Given the description of an element on the screen output the (x, y) to click on. 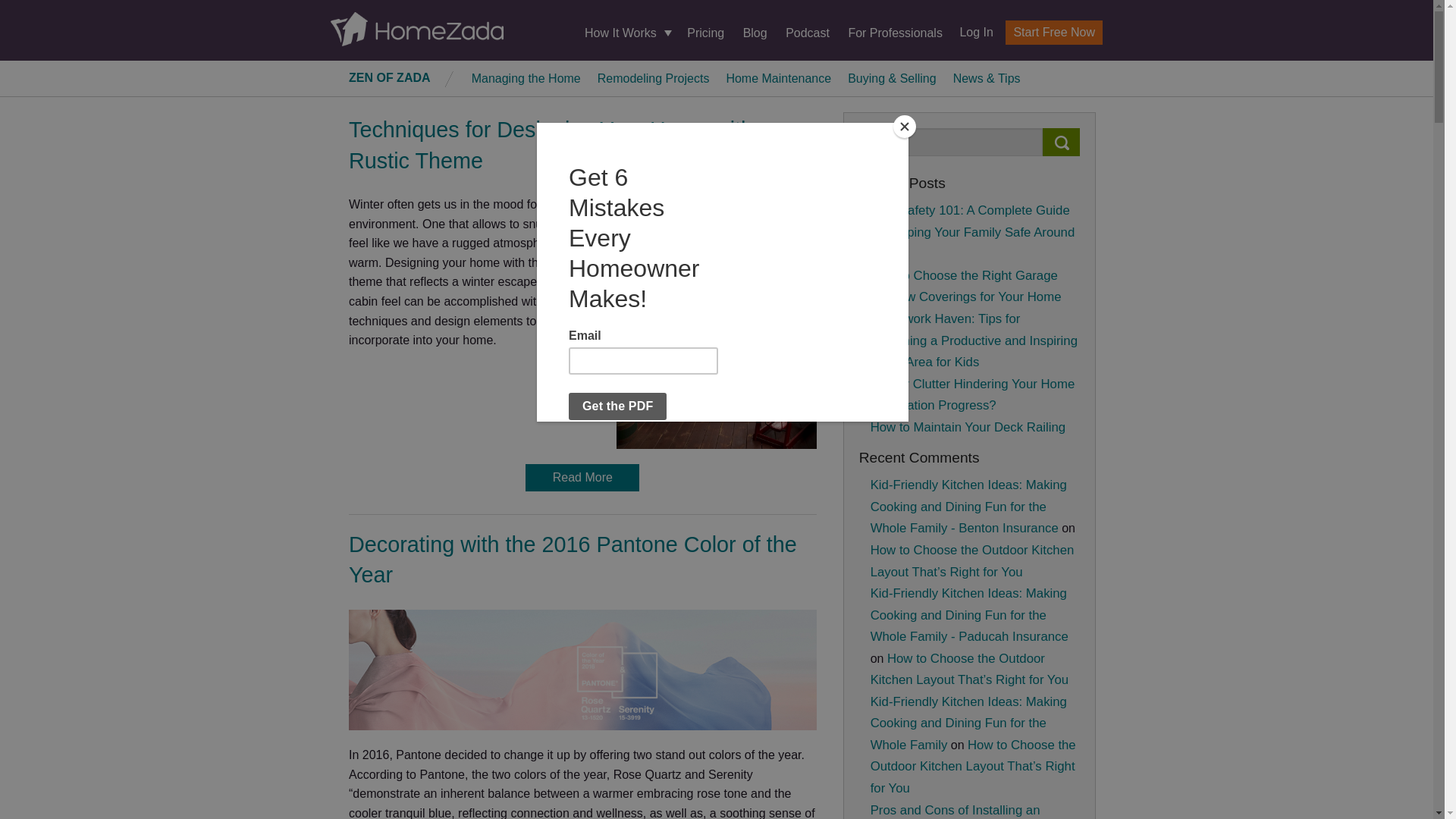
Log In (969, 31)
Podcast (807, 32)
Read More (582, 477)
Techniques for Designing Your Home with a Rustic Theme (560, 144)
Home Maintenance (778, 77)
Pricing (705, 32)
How It Works (626, 33)
For Professionals (894, 32)
Remodeling Projects (653, 77)
Start Free Now (1054, 32)
ZEN OF ZADA (389, 77)
Managing the Home (525, 77)
Blog (754, 32)
Decorating with the 2016 Pantone Color of the Year (572, 559)
